Given the description of an element on the screen output the (x, y) to click on. 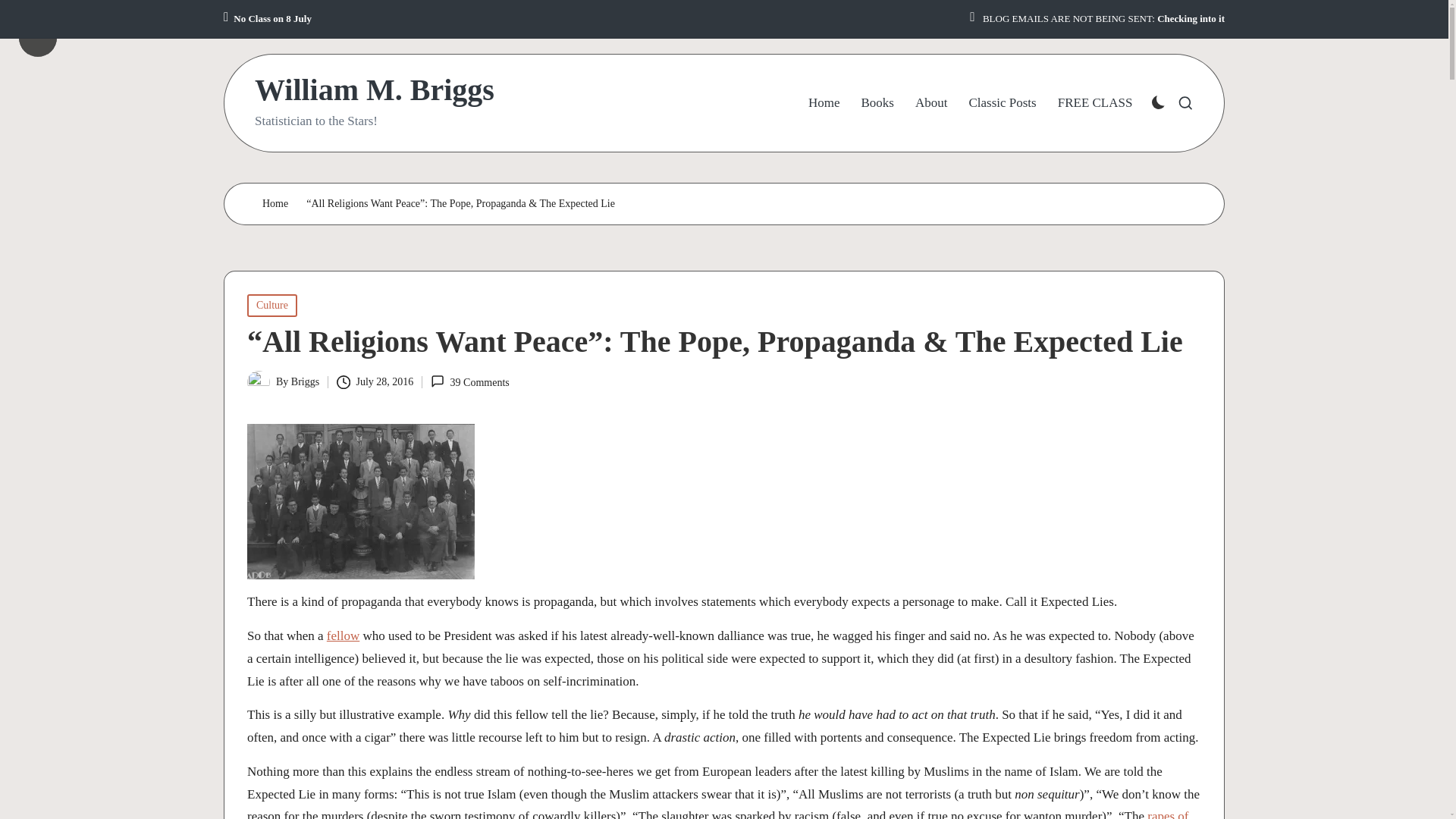
fellow (342, 635)
Briggs (304, 381)
39 Comments (469, 381)
Home (275, 203)
Books (876, 103)
View all posts by Briggs (304, 381)
About (931, 103)
FREE CLASS (1095, 103)
Classic Posts (1001, 103)
Checking into it (1190, 18)
Home (824, 103)
Culture (272, 305)
William M. Briggs (374, 90)
